Given the description of an element on the screen output the (x, y) to click on. 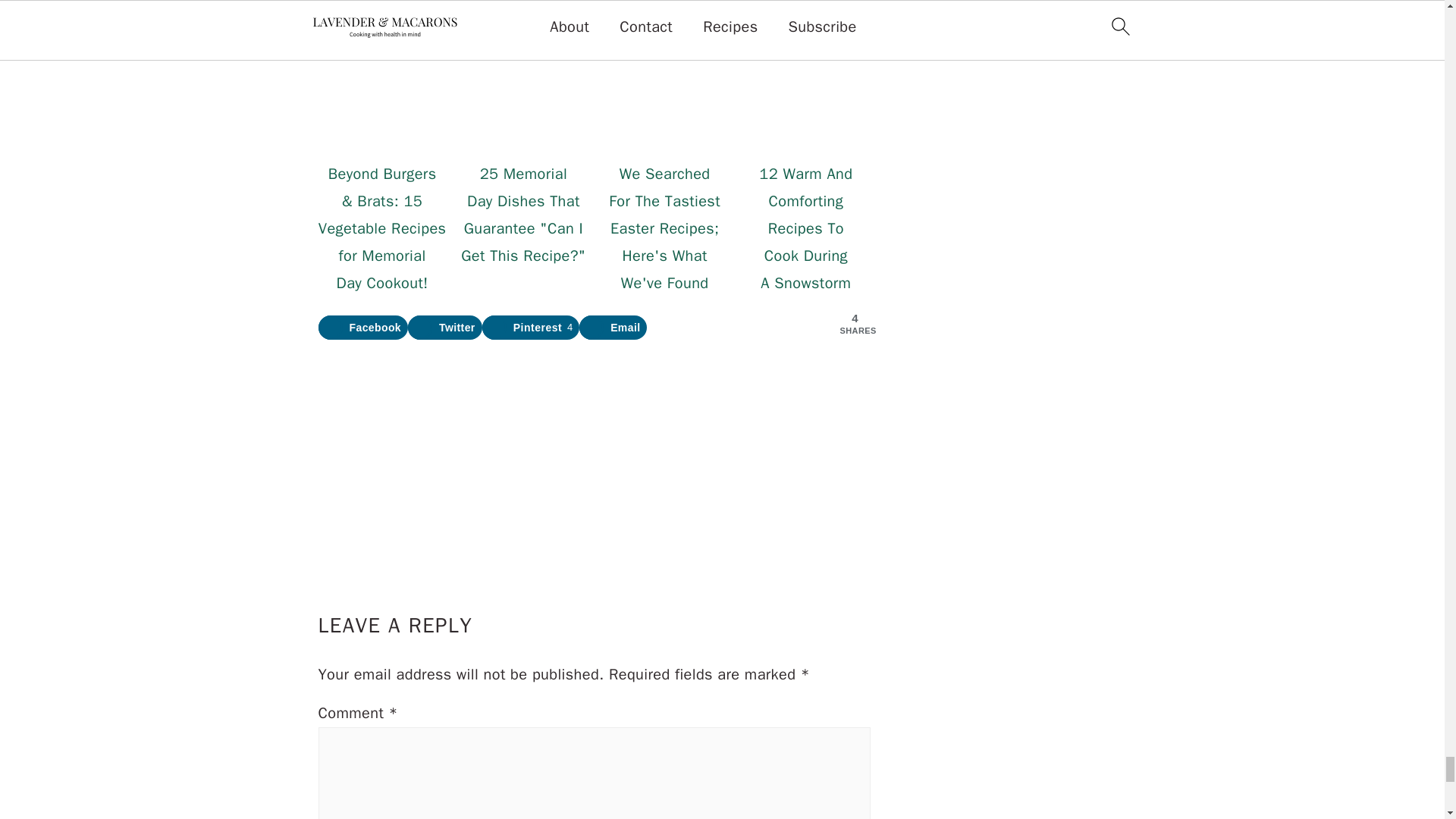
Send over email (612, 327)
Save to Pinterest (530, 327)
Share on Facebook (363, 327)
Share on X (444, 327)
